Given the description of an element on the screen output the (x, y) to click on. 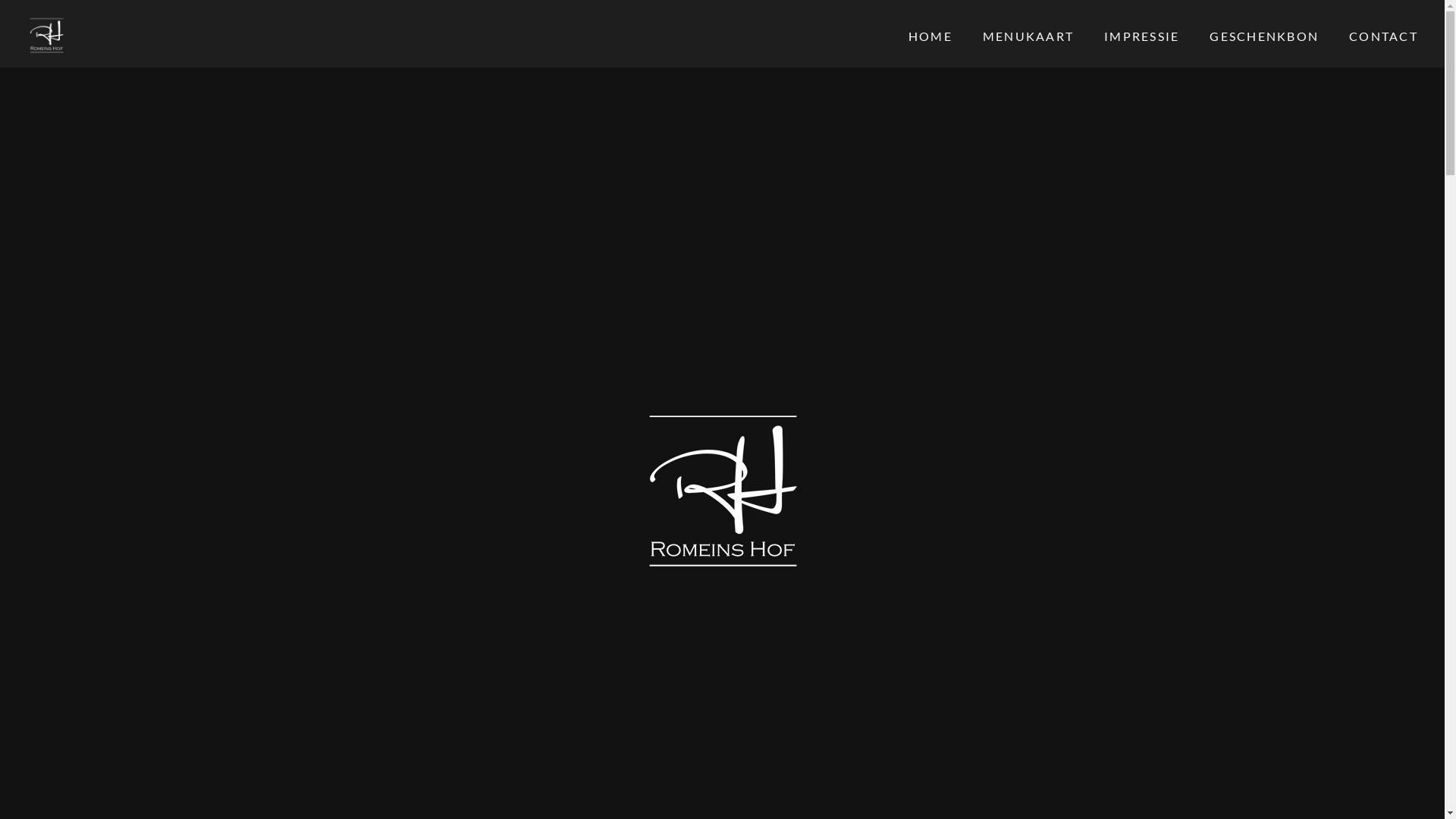
IMPRESSIE Element type: text (1141, 35)
CONTACT Element type: text (1383, 35)
HOME Element type: text (930, 35)
GESCHENKBON Element type: text (1263, 35)
MENUKAART Element type: text (1027, 35)
